Given the description of an element on the screen output the (x, y) to click on. 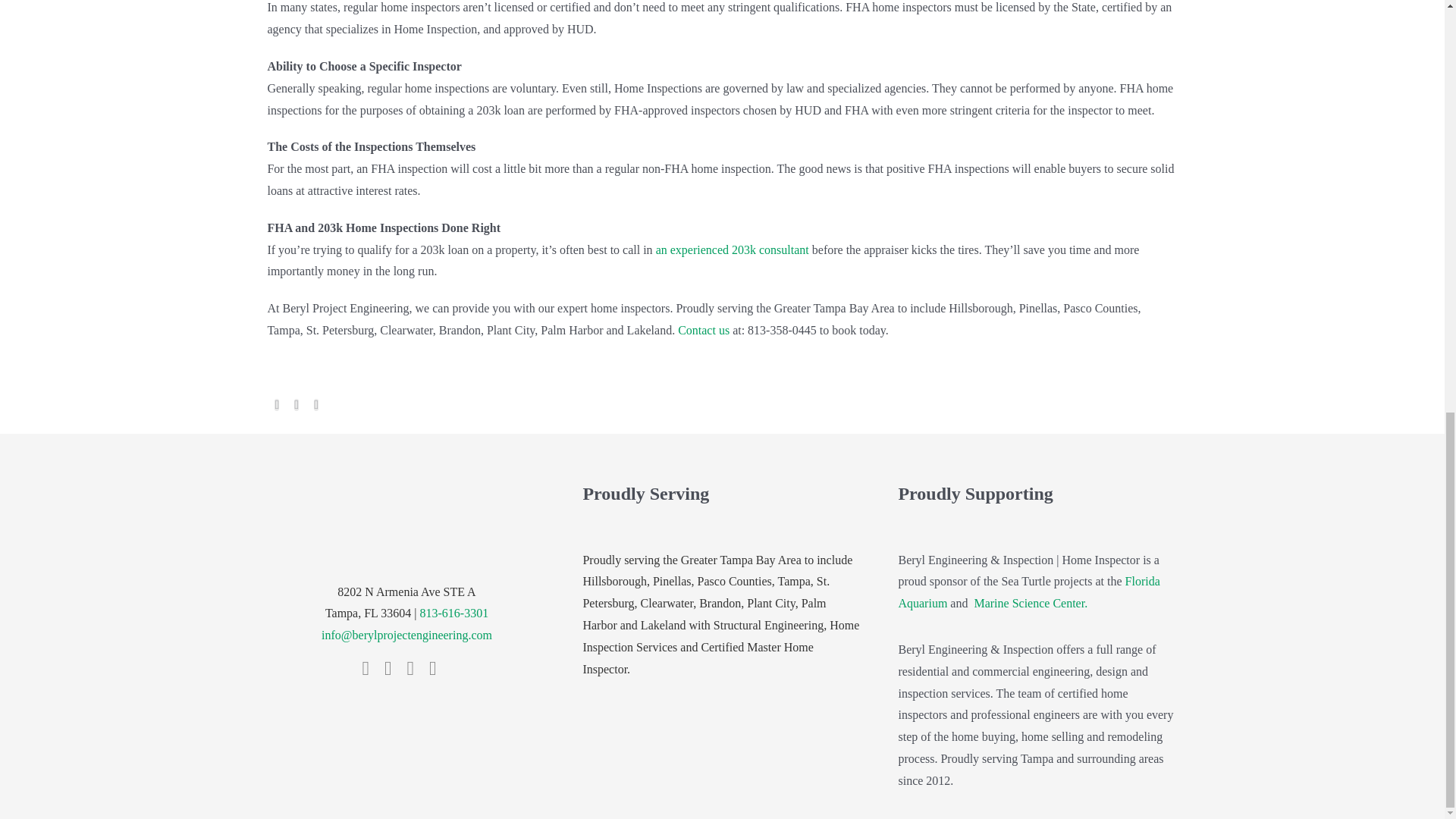
Facebook (276, 404)
LinkedIn (315, 404)
Email (333, 404)
Twitter (295, 404)
